Given the description of an element on the screen output the (x, y) to click on. 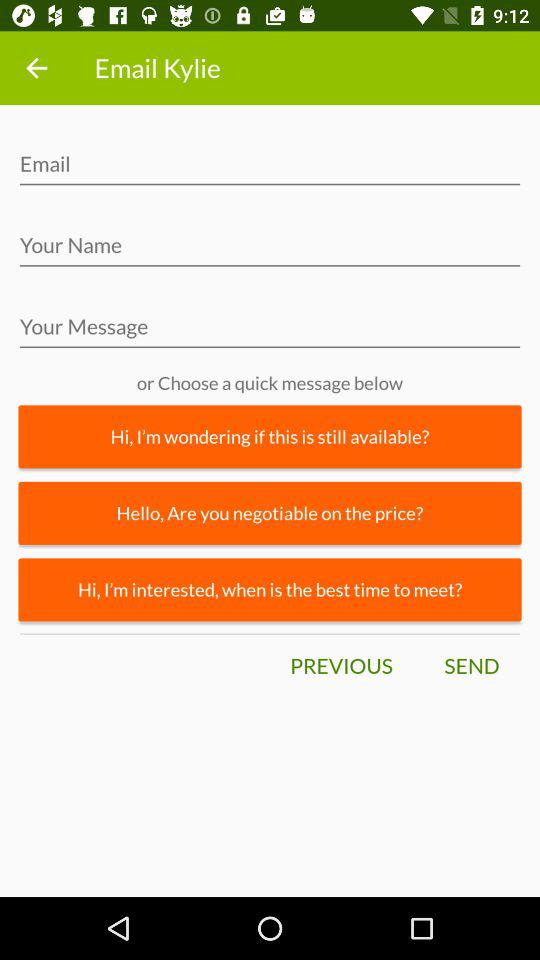
select the item to the left of send (341, 666)
